Given the description of an element on the screen output the (x, y) to click on. 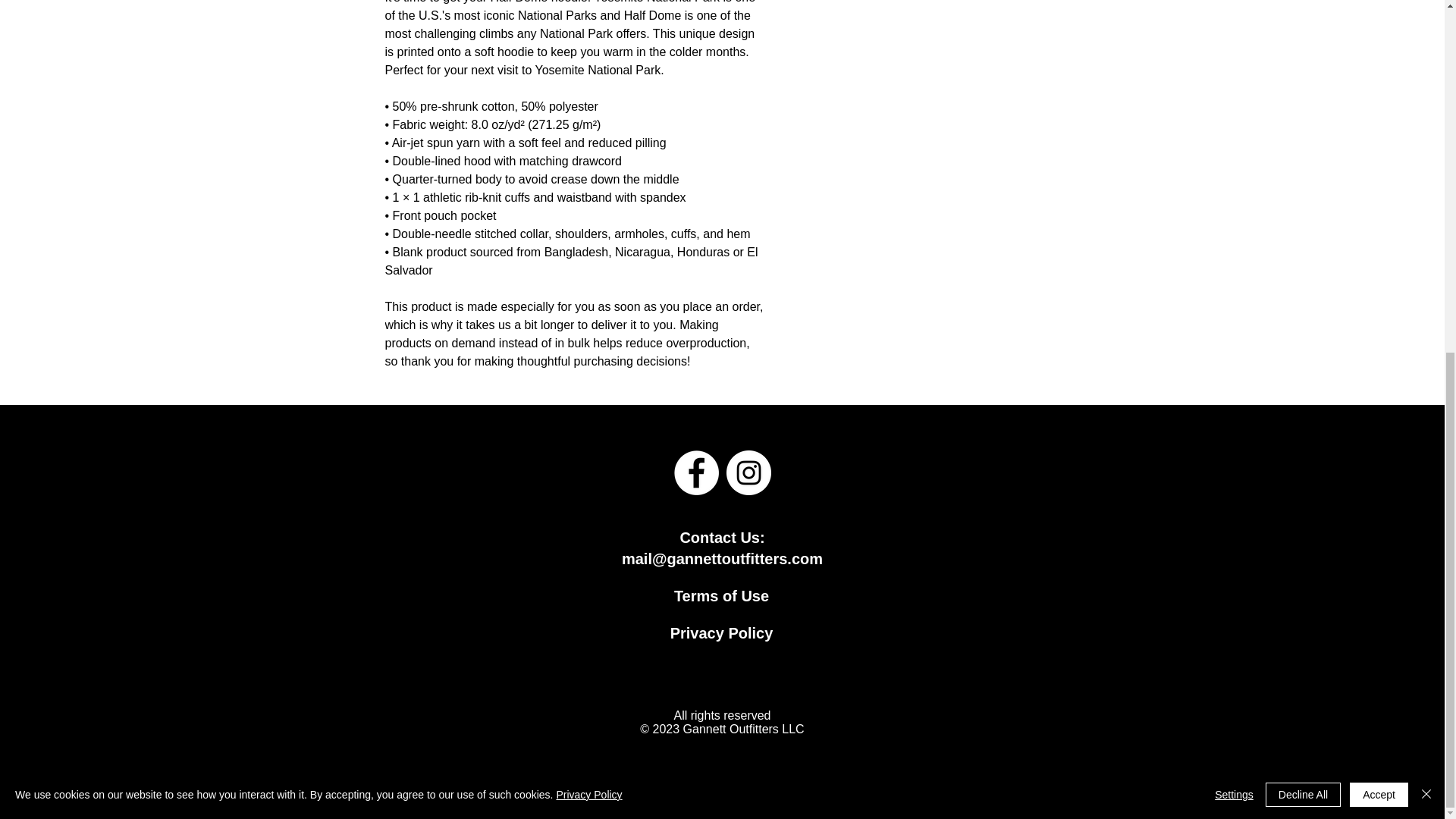
Privacy Policy (721, 632)
Privacy Policy (588, 180)
Accept (1378, 180)
Decline All (1302, 180)
Terms of Use (721, 596)
